Given the description of an element on the screen output the (x, y) to click on. 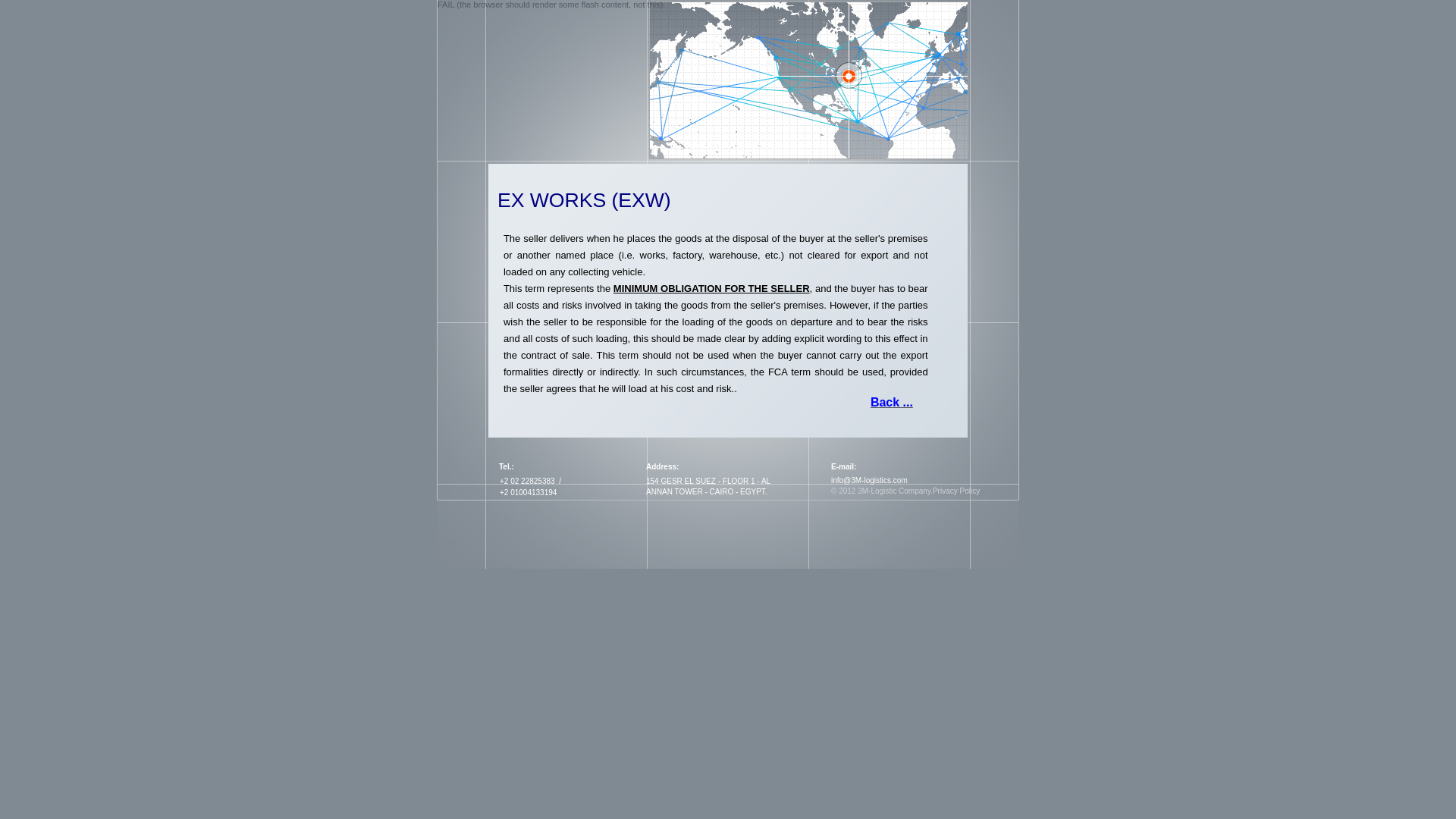
info@3M-logistics.com Element type: text (869, 480)
54 GESR EL SUEZ - FLOOR 1 - AL ANNAN TOWER - CAIRO - EGYPT. Element type: text (708, 485)
Privacy Policy Element type: text (955, 490)
Back ... Element type: text (891, 402)
